Given the description of an element on the screen output the (x, y) to click on. 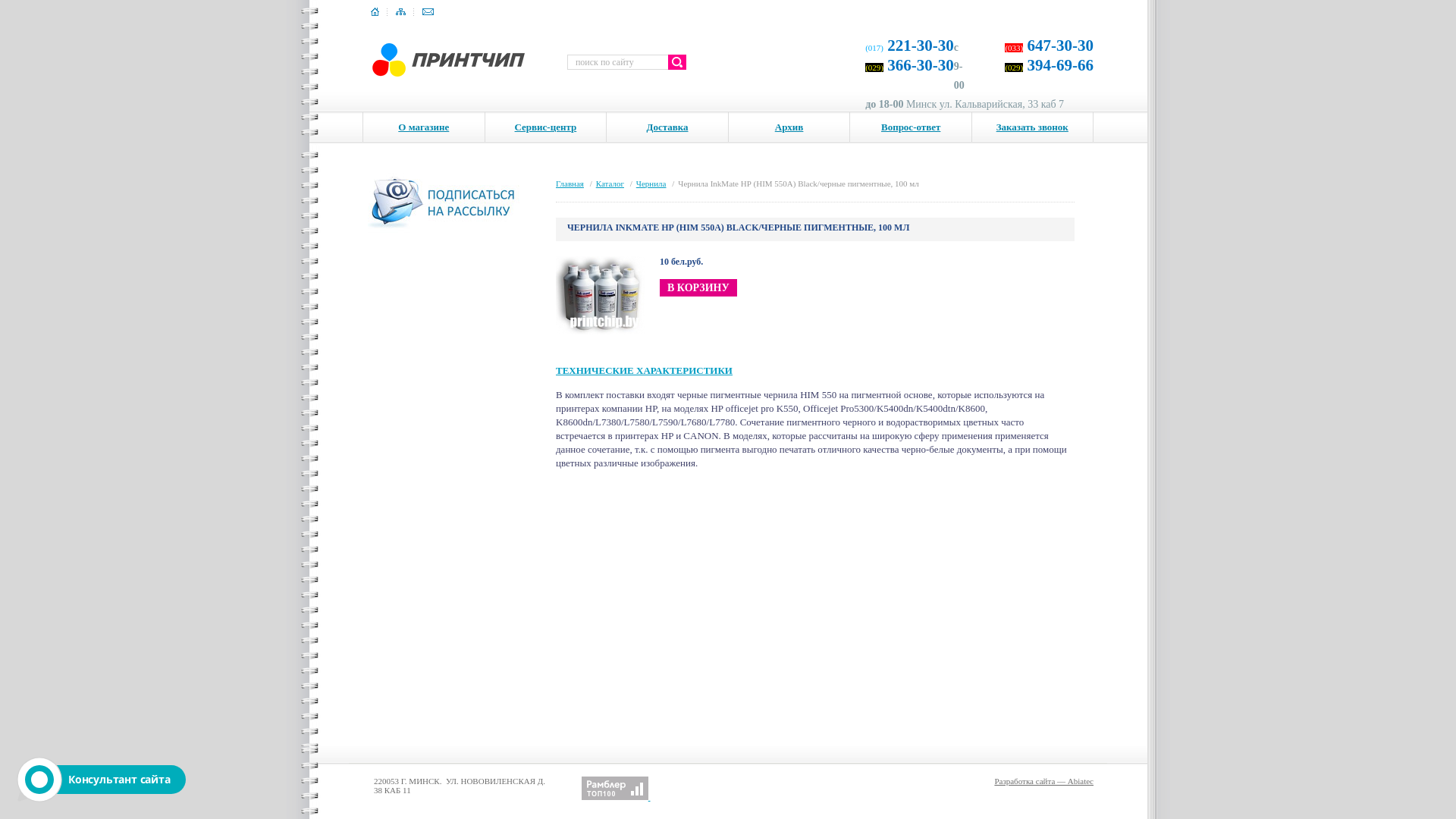
Rambler's Top100 Element type: hover (614, 788)
LiveInternet Element type: hover (567, 788)
